Given the description of an element on the screen output the (x, y) to click on. 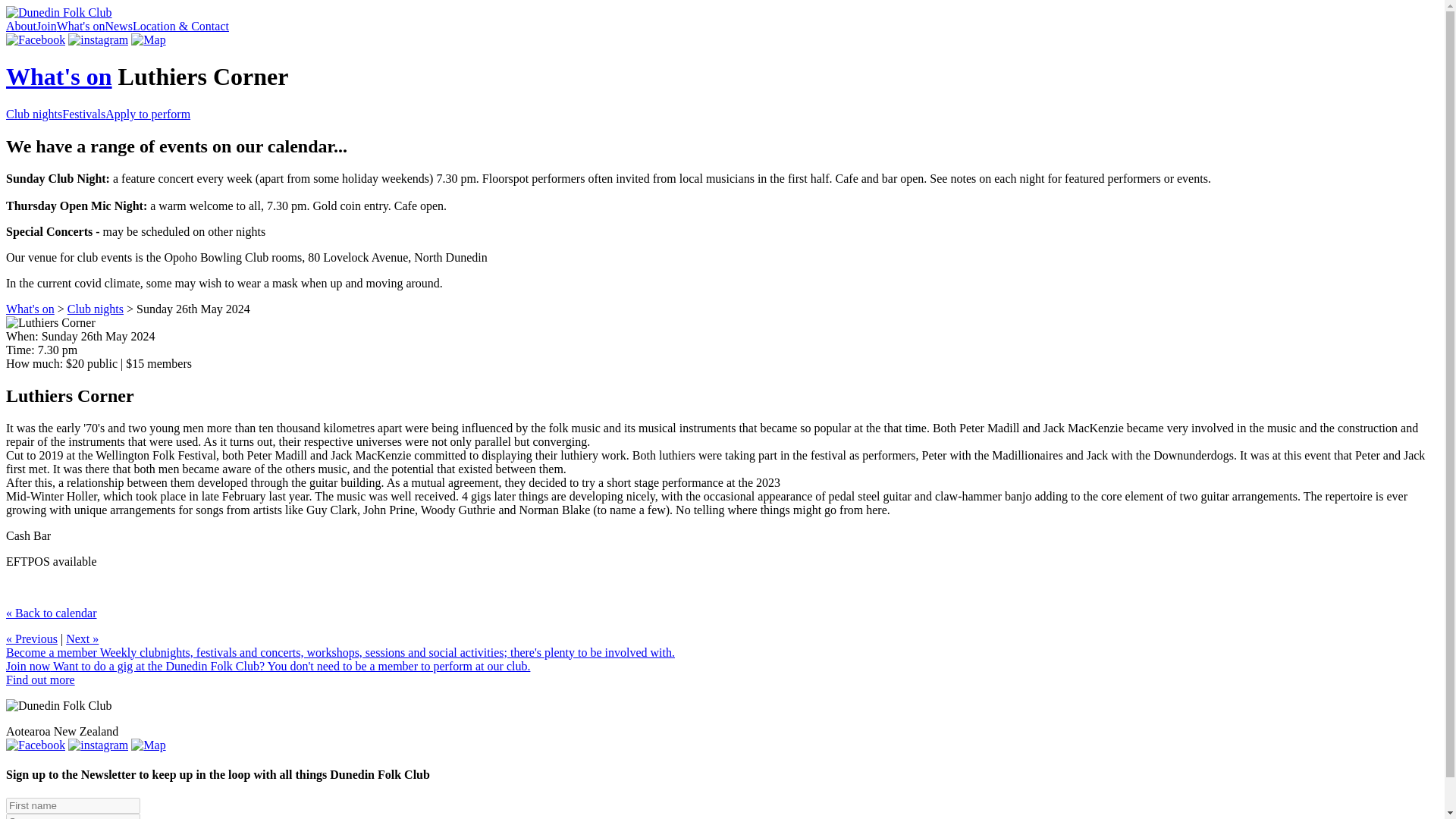
Apply to perform (147, 113)
About (20, 25)
Join (46, 25)
What's on (58, 76)
Club nights (33, 113)
What's on (80, 25)
News (118, 25)
Club nights (94, 308)
King's Birthday Weekend  (82, 638)
What's on (30, 308)
Festivals (83, 113)
